Given the description of an element on the screen output the (x, y) to click on. 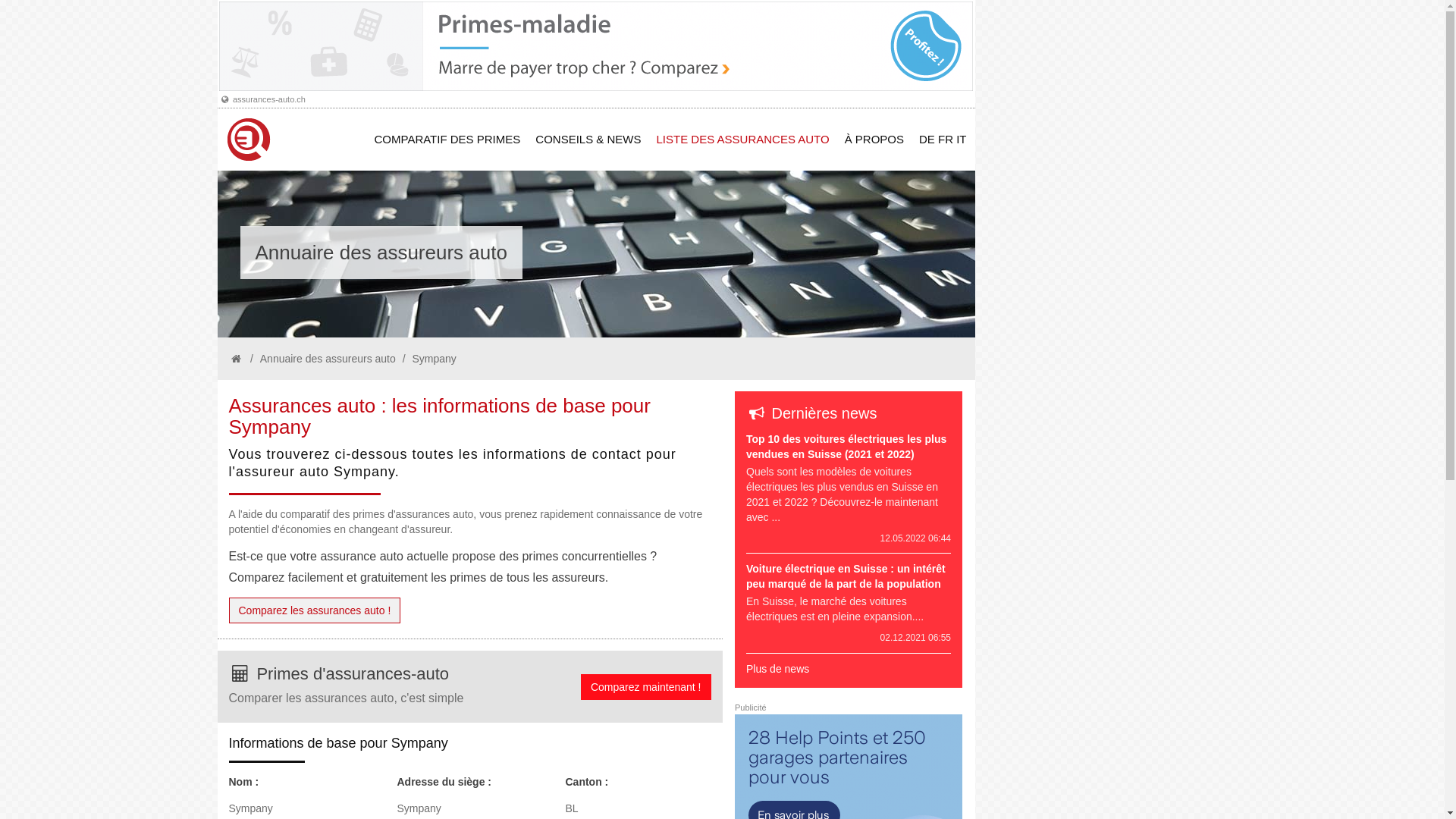
CONSEILS & NEWS Element type: text (587, 139)
DE FR IT Element type: text (942, 139)
Sympany Element type: text (433, 358)
Comparez maintenant ! Element type: text (645, 686)
Annuaire des assureurs auto Element type: text (327, 358)
COMPARATIF DES PRIMES Element type: text (447, 139)
3rd party ad content Element type: hover (595, 46)
LISTE DES ASSURANCES AUTO Element type: text (743, 139)
Plus de news Element type: text (777, 668)
Comparez les assurances auto ! Element type: text (315, 610)
